Given the description of an element on the screen output the (x, y) to click on. 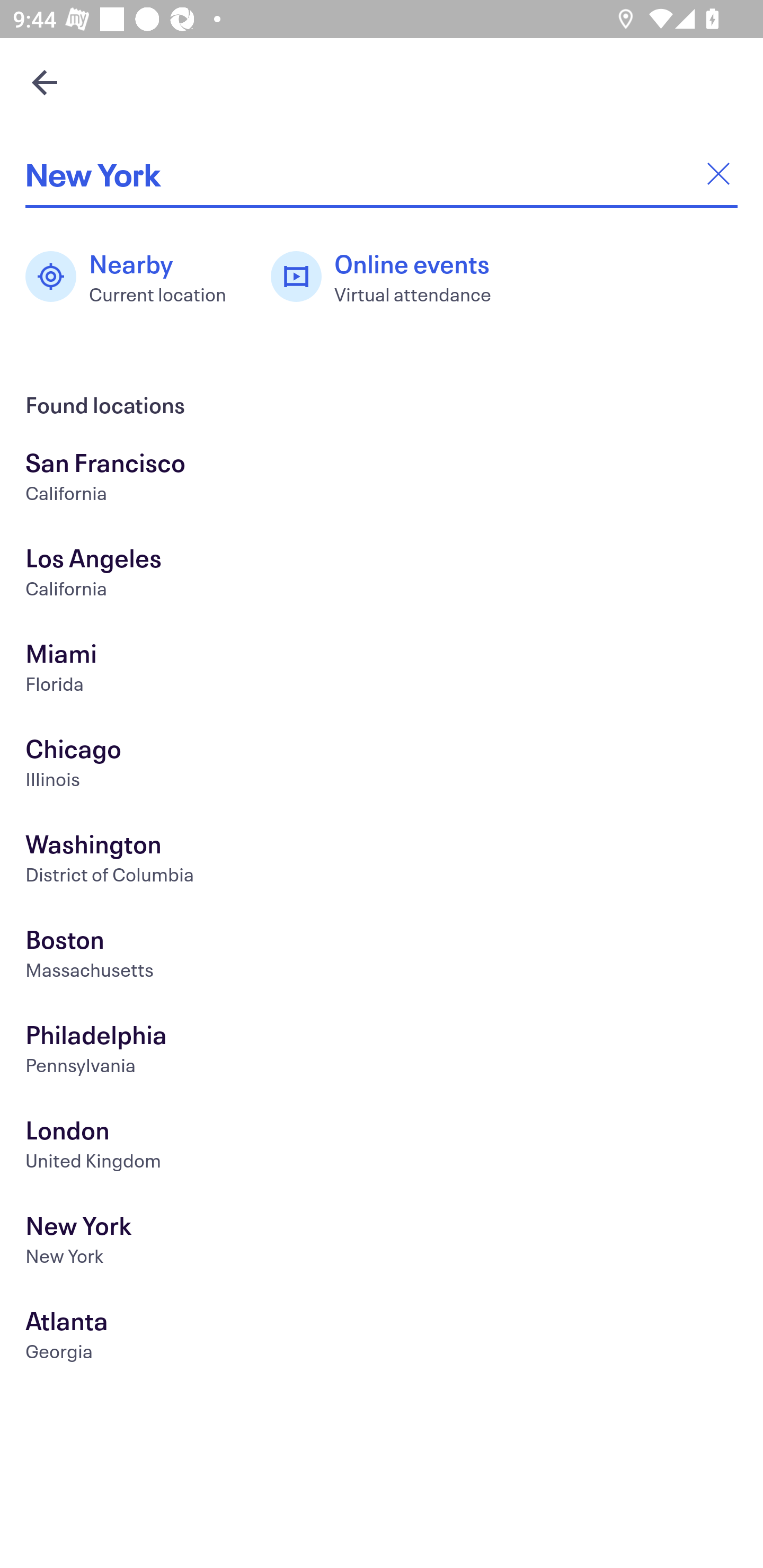
Navigate up (44, 82)
New York (381, 173)
Nearby Current location (135, 276)
Online events Virtual attendance (390, 276)
San Francisco California (381, 479)
Los Angeles California (381, 574)
Miami Florida (381, 670)
Chicago Illinois (381, 765)
Washington District of Columbia (381, 861)
Boston Massachusetts (381, 955)
Philadelphia Pennsylvania (381, 1051)
London United Kingdom (381, 1146)
New York (381, 1242)
Atlanta Georgia (381, 1338)
